Given the description of an element on the screen output the (x, y) to click on. 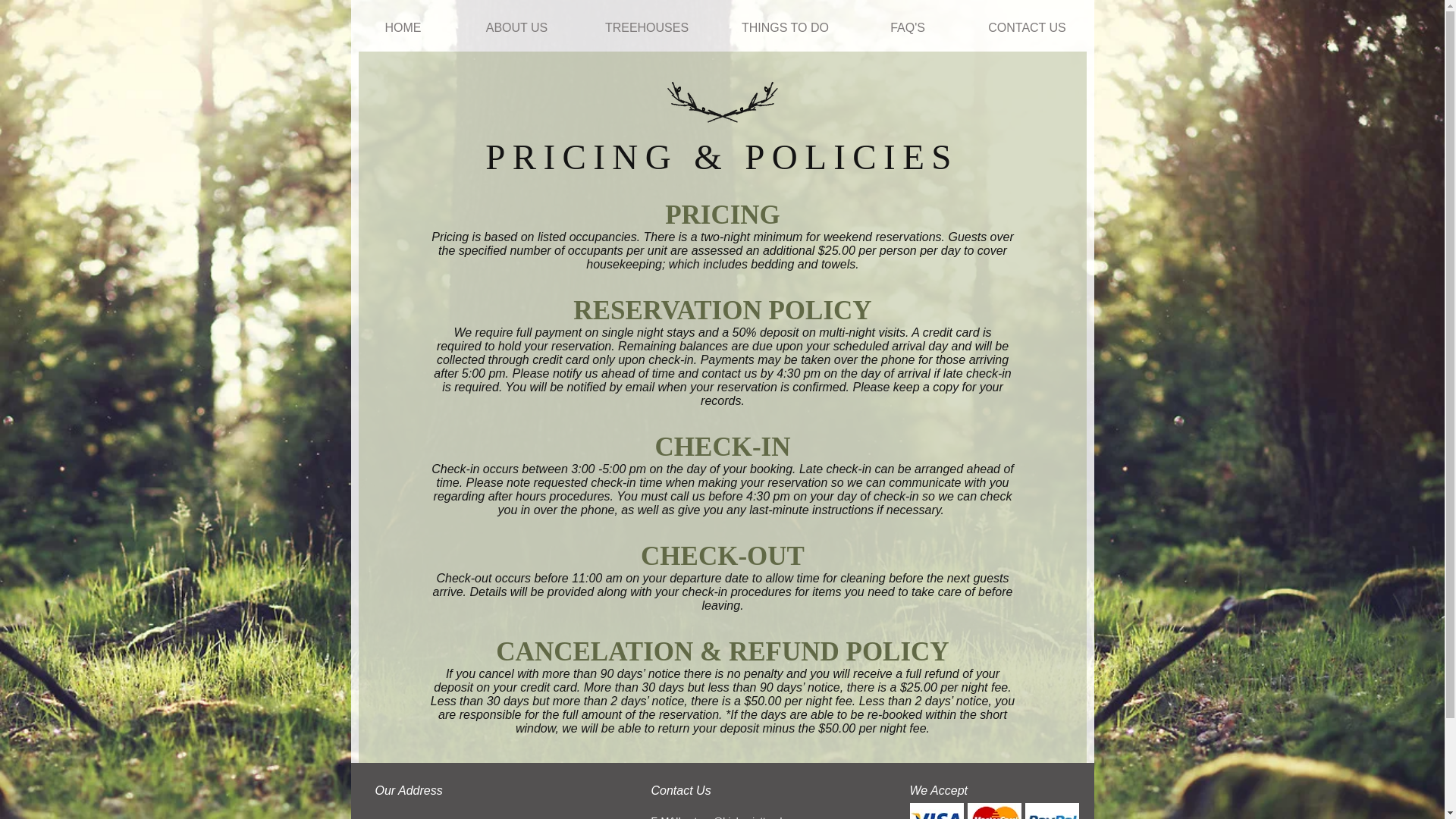
ABOUT US (516, 27)
FAQ'S (907, 27)
TREEHOUSES (646, 27)
THINGS TO DO (784, 27)
CONTACT US (1026, 27)
HOME (403, 27)
